Given the description of an element on the screen output the (x, y) to click on. 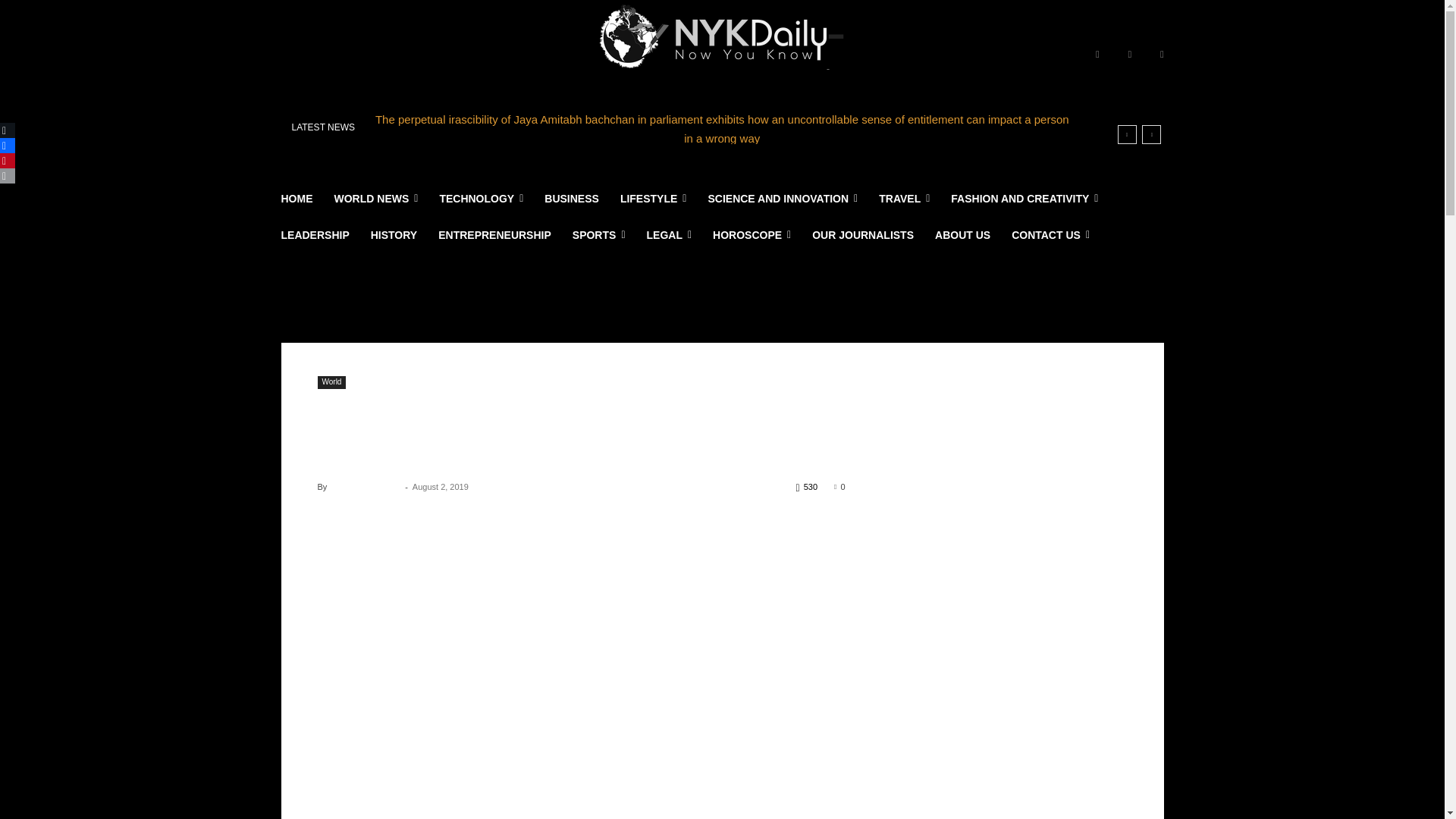
Instagram (1130, 54)
Facebook (1096, 54)
Twitter (1162, 54)
